Given the description of an element on the screen output the (x, y) to click on. 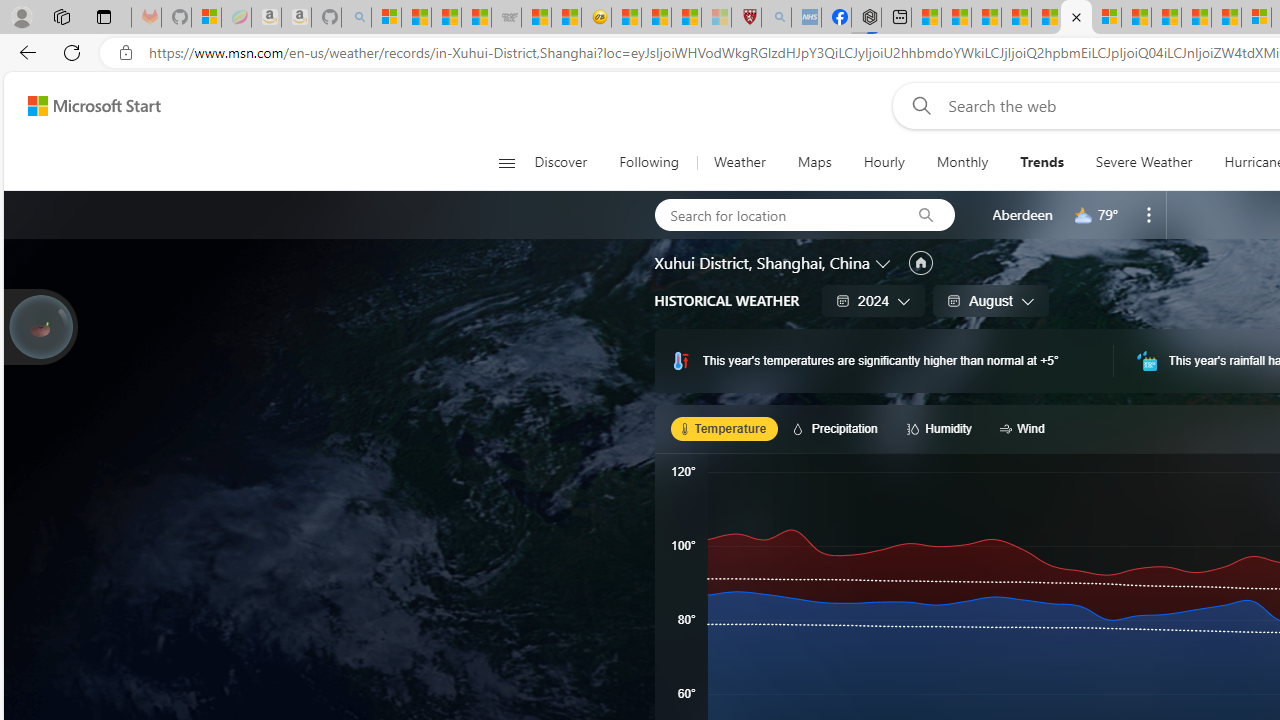
Xuhui District, Shanghai, China (762, 263)
Monthly (962, 162)
Recipes - MSN (626, 17)
Aberdeen (1022, 214)
Trends (1041, 162)
